Given the description of an element on the screen output the (x, y) to click on. 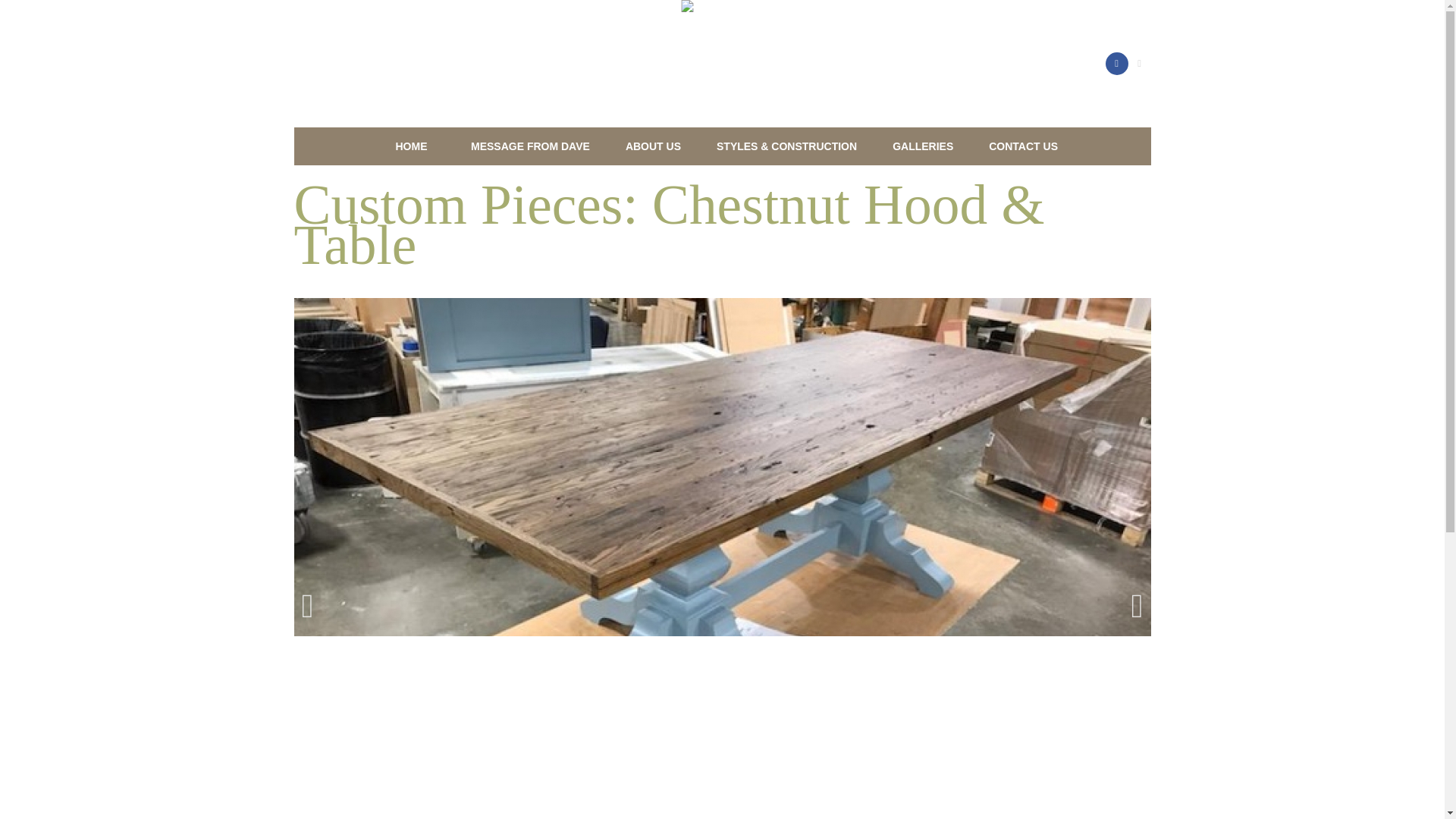
ABOUT US (652, 146)
HOME (411, 146)
MESSAGE FROM DAVE (529, 146)
